Given the description of an element on the screen output the (x, y) to click on. 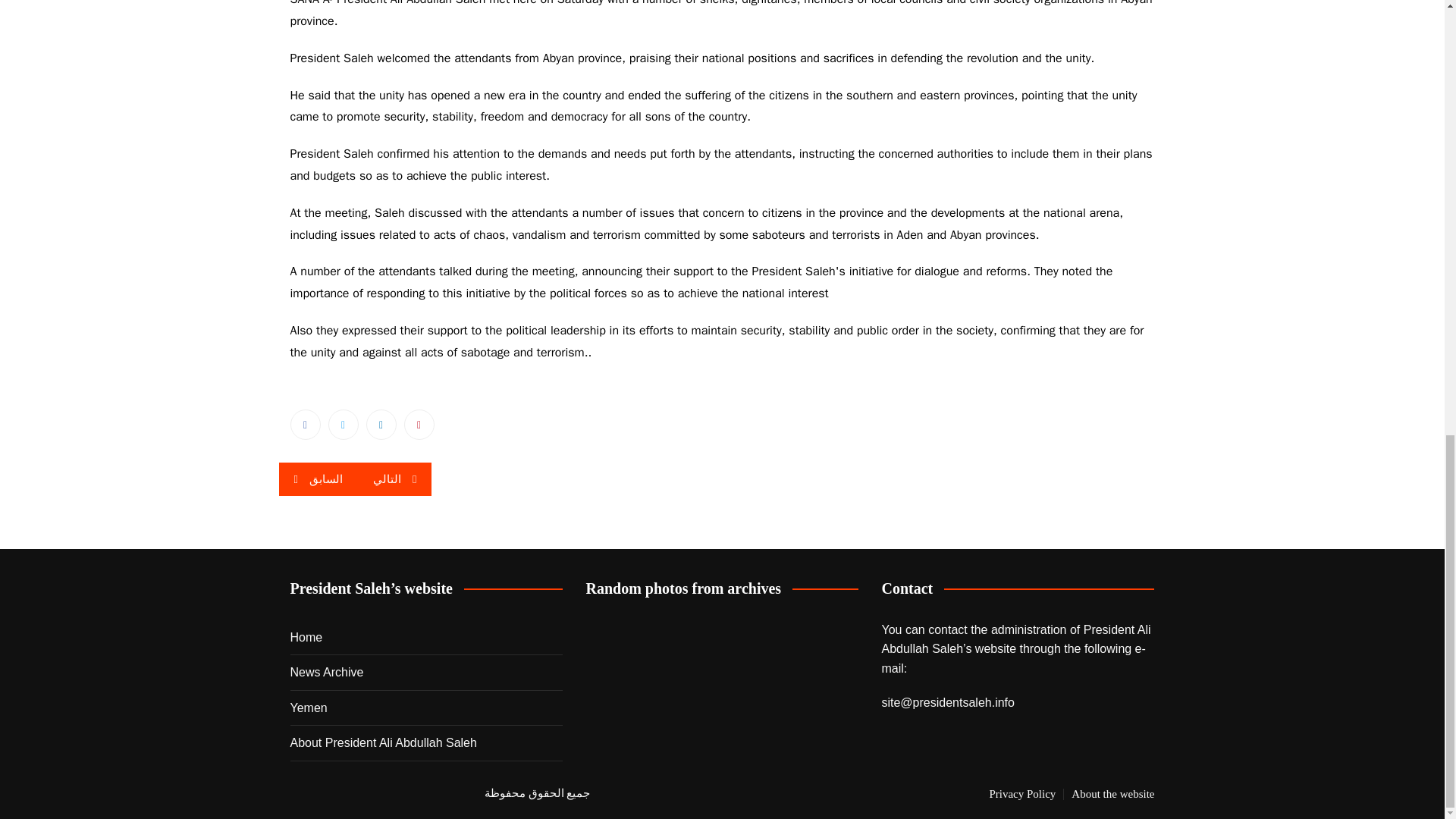
Yemen (307, 708)
Twitter (342, 424)
Home (305, 637)
Pinterest (418, 424)
News Archive (325, 672)
Linkedin (380, 424)
Facebook (304, 424)
About President Ali Abdullah Saleh (382, 742)
